Given the description of an element on the screen output the (x, y) to click on. 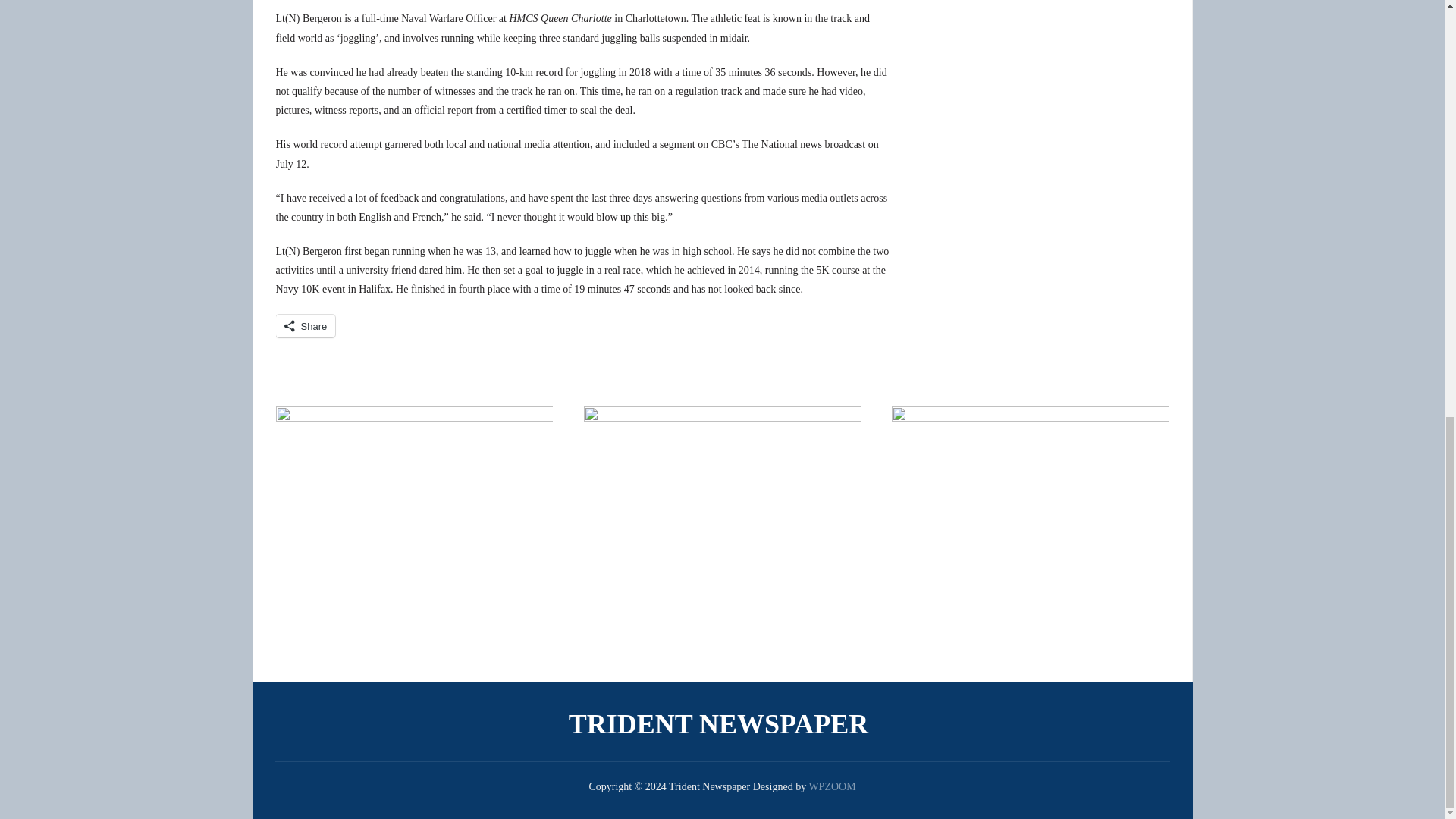
CFB Halifax Trident Navy Newspaper (722, 723)
We hire military spouses! (1030, 521)
WPZOOM WordPress Themes (832, 786)
